Given the description of an element on the screen output the (x, y) to click on. 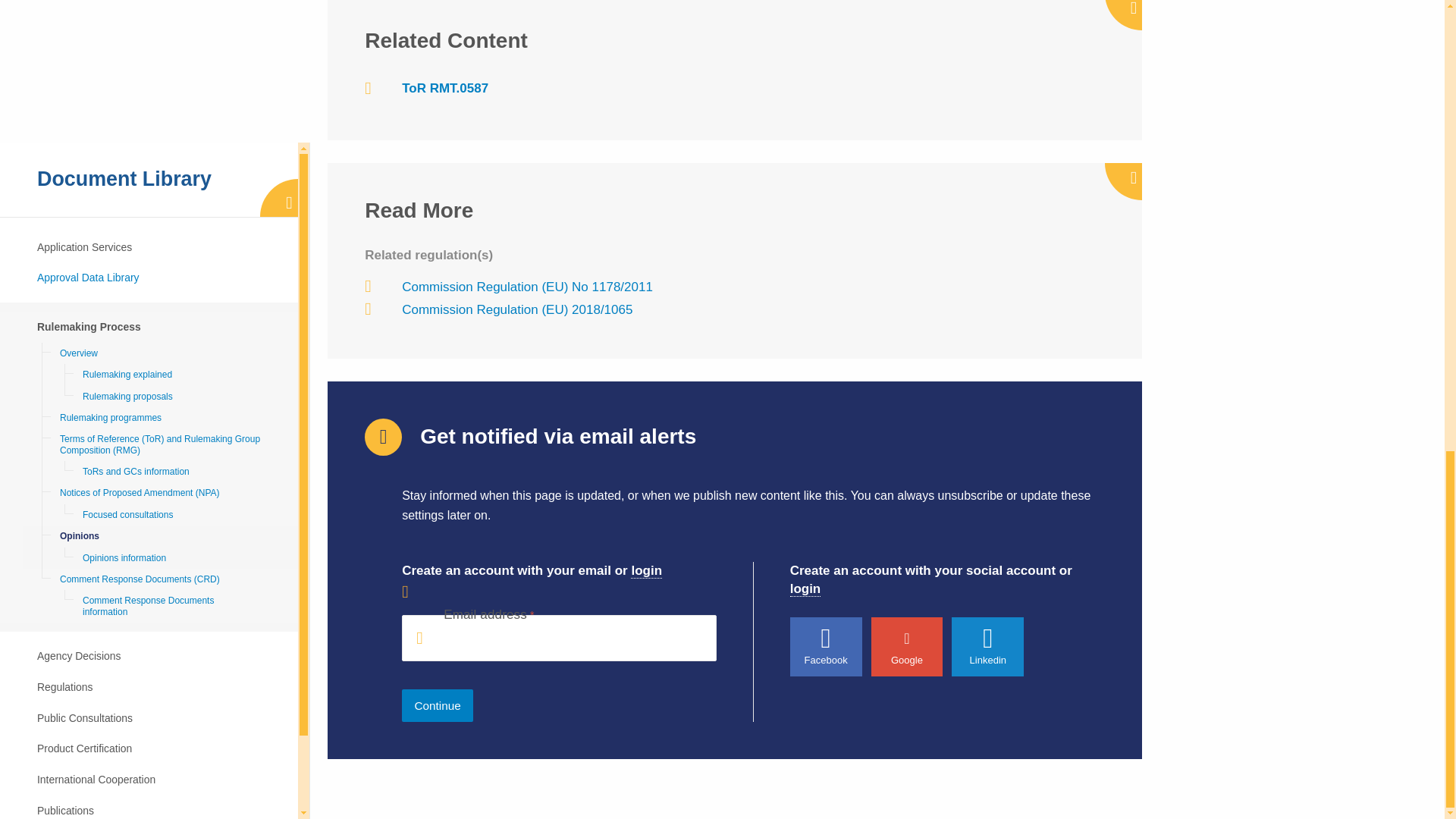
Facebook (825, 646)
Continue (437, 705)
Google (906, 646)
Linkedin (987, 646)
